Given the description of an element on the screen output the (x, y) to click on. 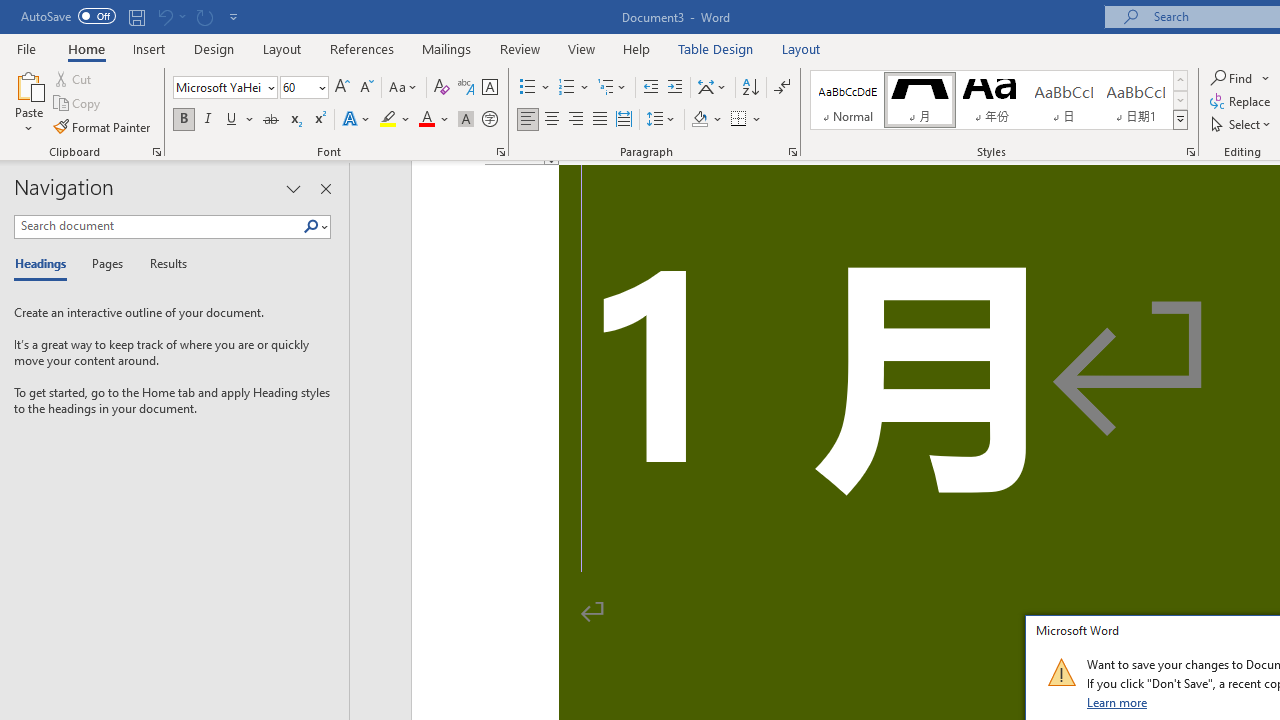
Pages (105, 264)
Phonetic Guide... (465, 87)
Results (161, 264)
Line and Paragraph Spacing (661, 119)
Select (1242, 124)
Row up (1179, 79)
Numbering (566, 87)
Class: NetUIImage (1061, 671)
Bullets (527, 87)
Styles... (1190, 151)
System (10, 11)
Paste (28, 102)
Sort... (750, 87)
More Options (1266, 78)
